Given the description of an element on the screen output the (x, y) to click on. 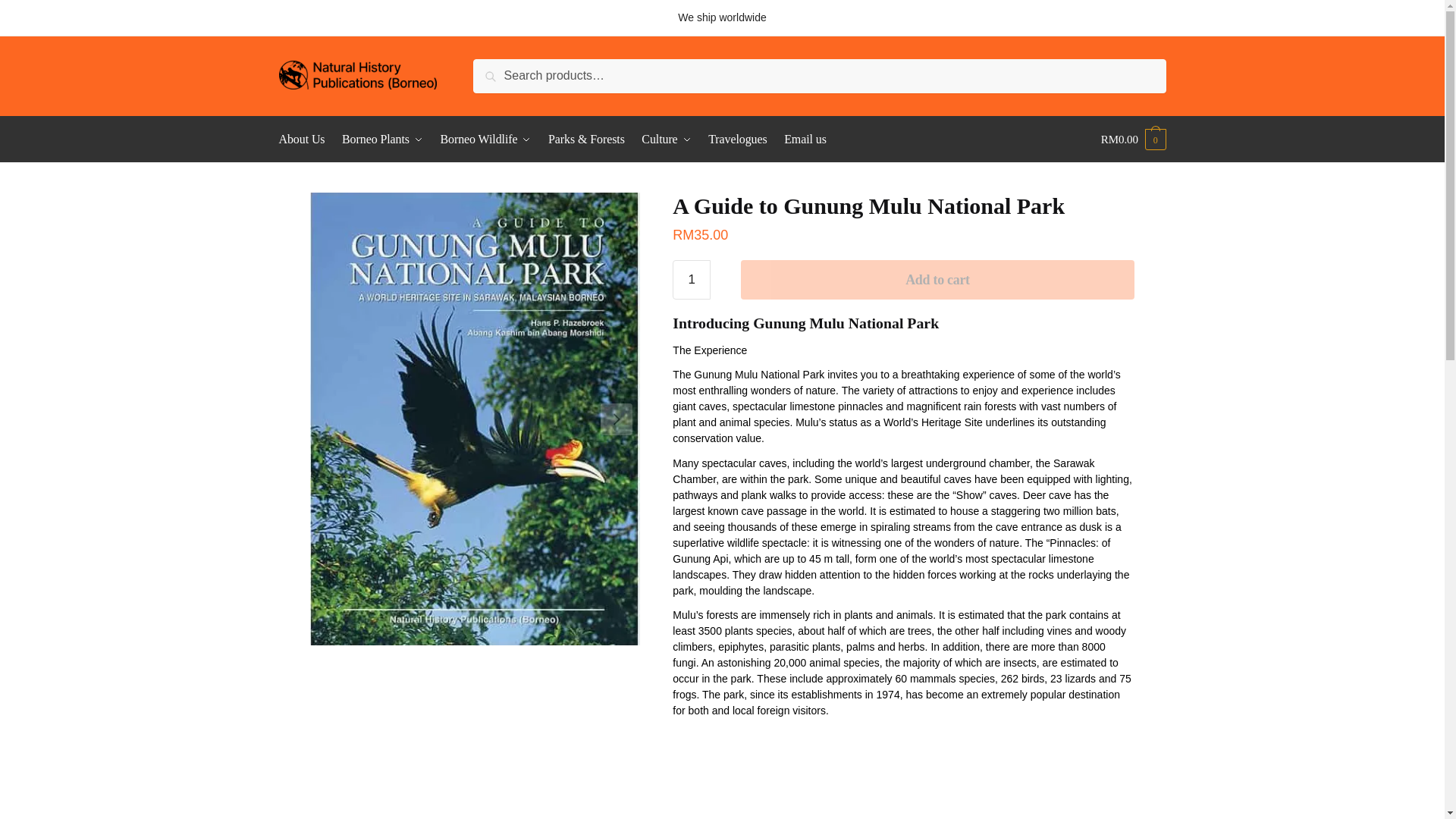
Add to cart (937, 279)
Borneo Wildlife (485, 139)
Search (497, 69)
Borneo Plants (381, 139)
Email us (804, 139)
RM0.00 0 (1133, 139)
Travelogues (737, 139)
About Us (305, 139)
Culture (666, 139)
View your shopping cart (1133, 139)
